Given the description of an element on the screen output the (x, y) to click on. 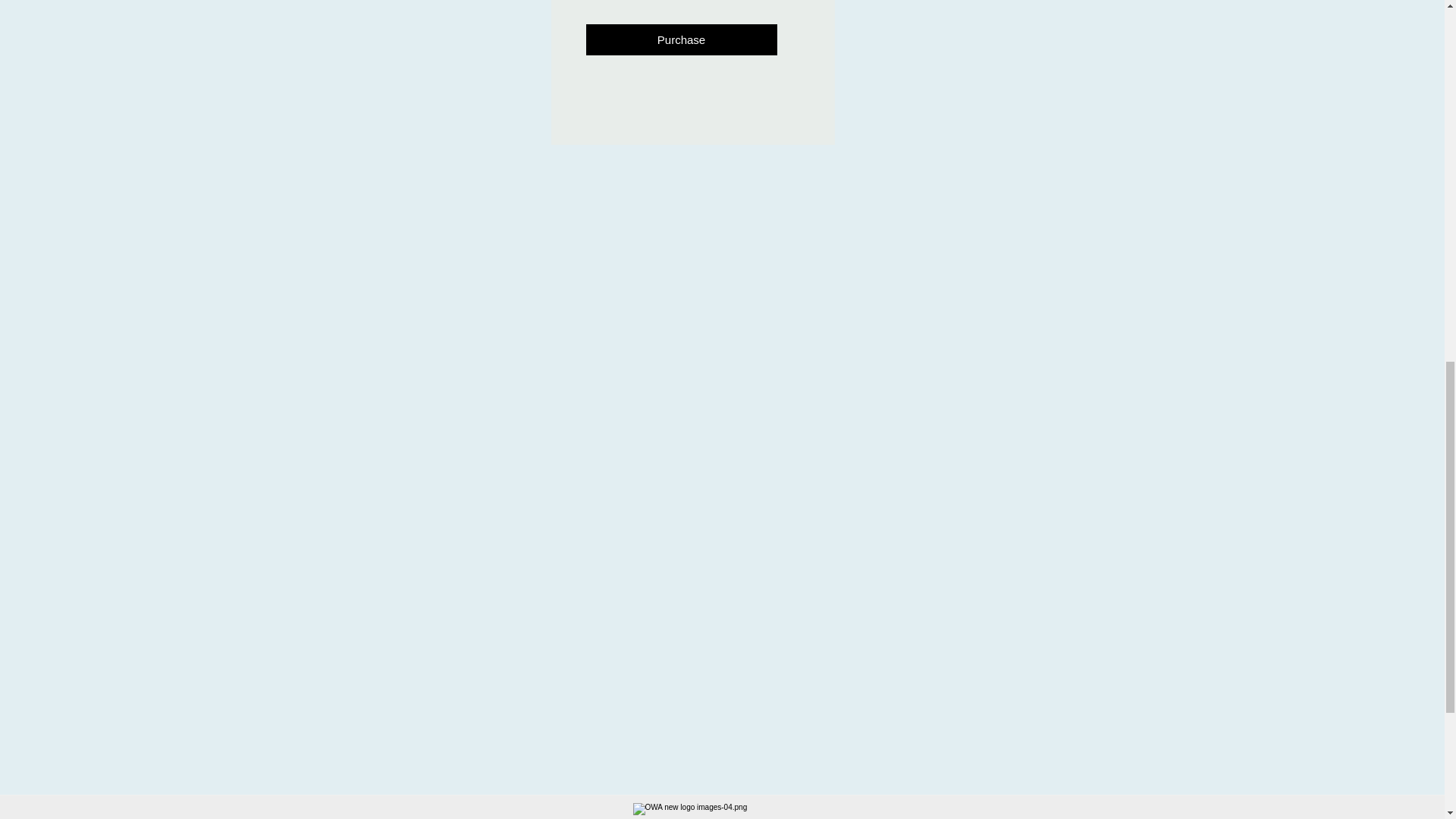
Purchase (680, 39)
